Given the description of an element on the screen output the (x, y) to click on. 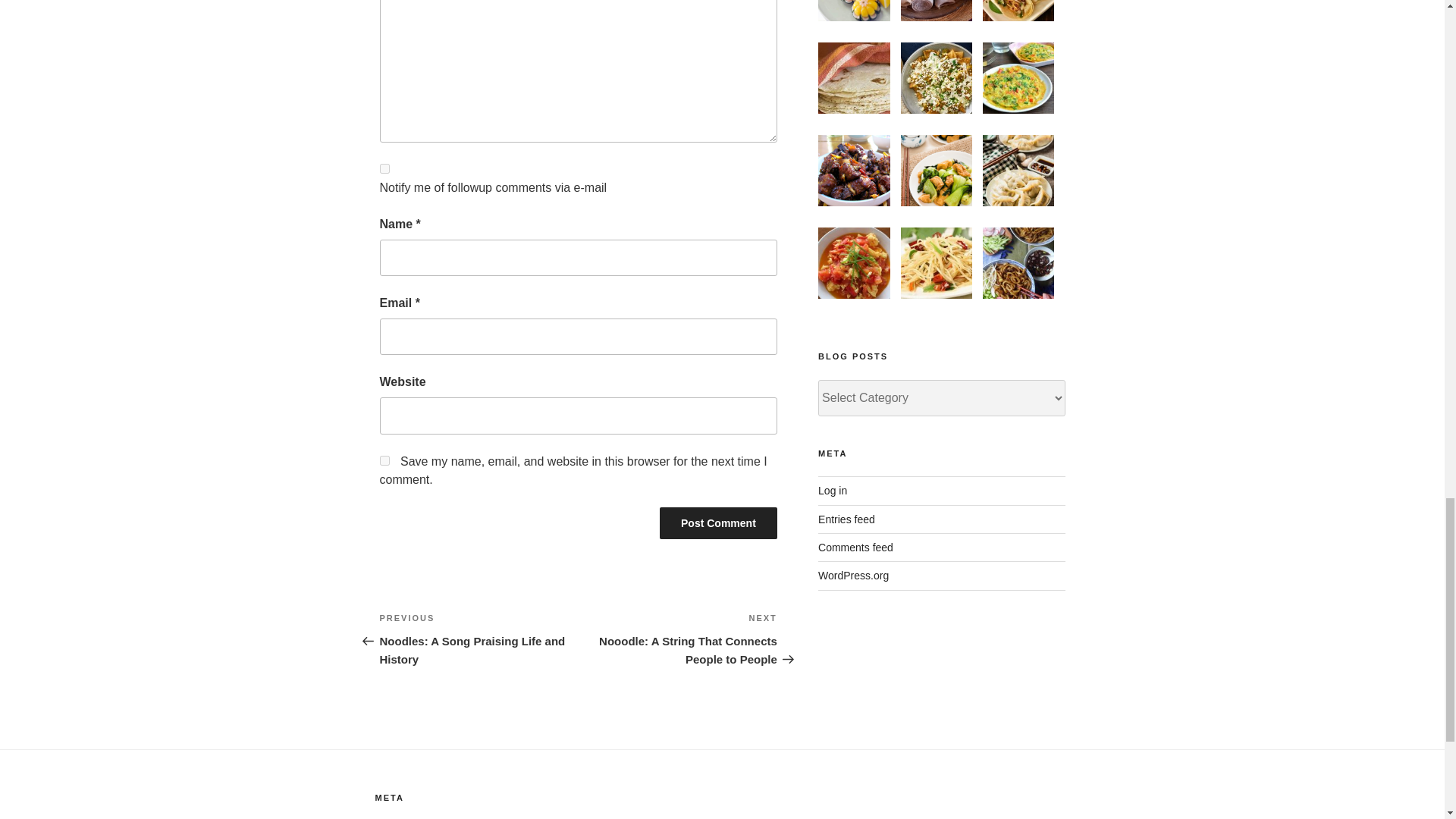
Post Comment (718, 522)
yes (383, 460)
subscribe (383, 168)
